Given the description of an element on the screen output the (x, y) to click on. 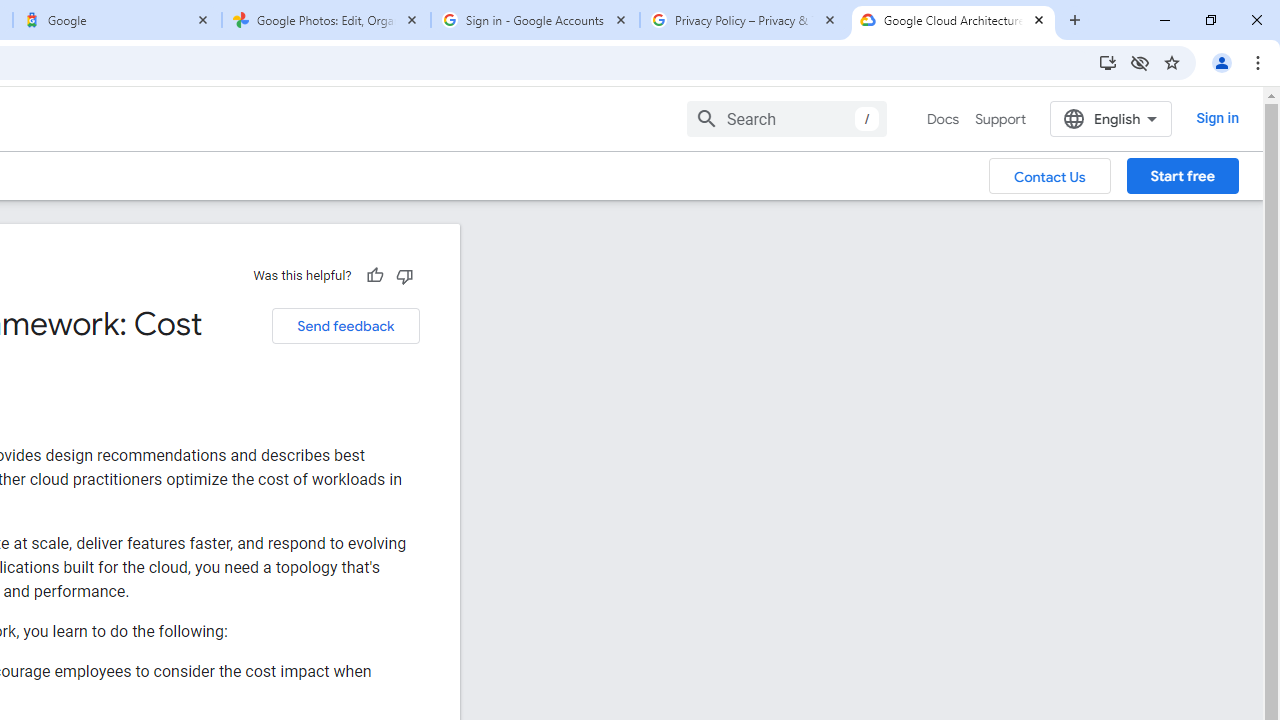
English (1110, 118)
Not helpful (404, 275)
Support (1000, 119)
Helpful (374, 275)
Sign in - Google Accounts (535, 20)
Docs, selected (942, 119)
Google (116, 20)
Start free (1182, 175)
